Given the description of an element on the screen output the (x, y) to click on. 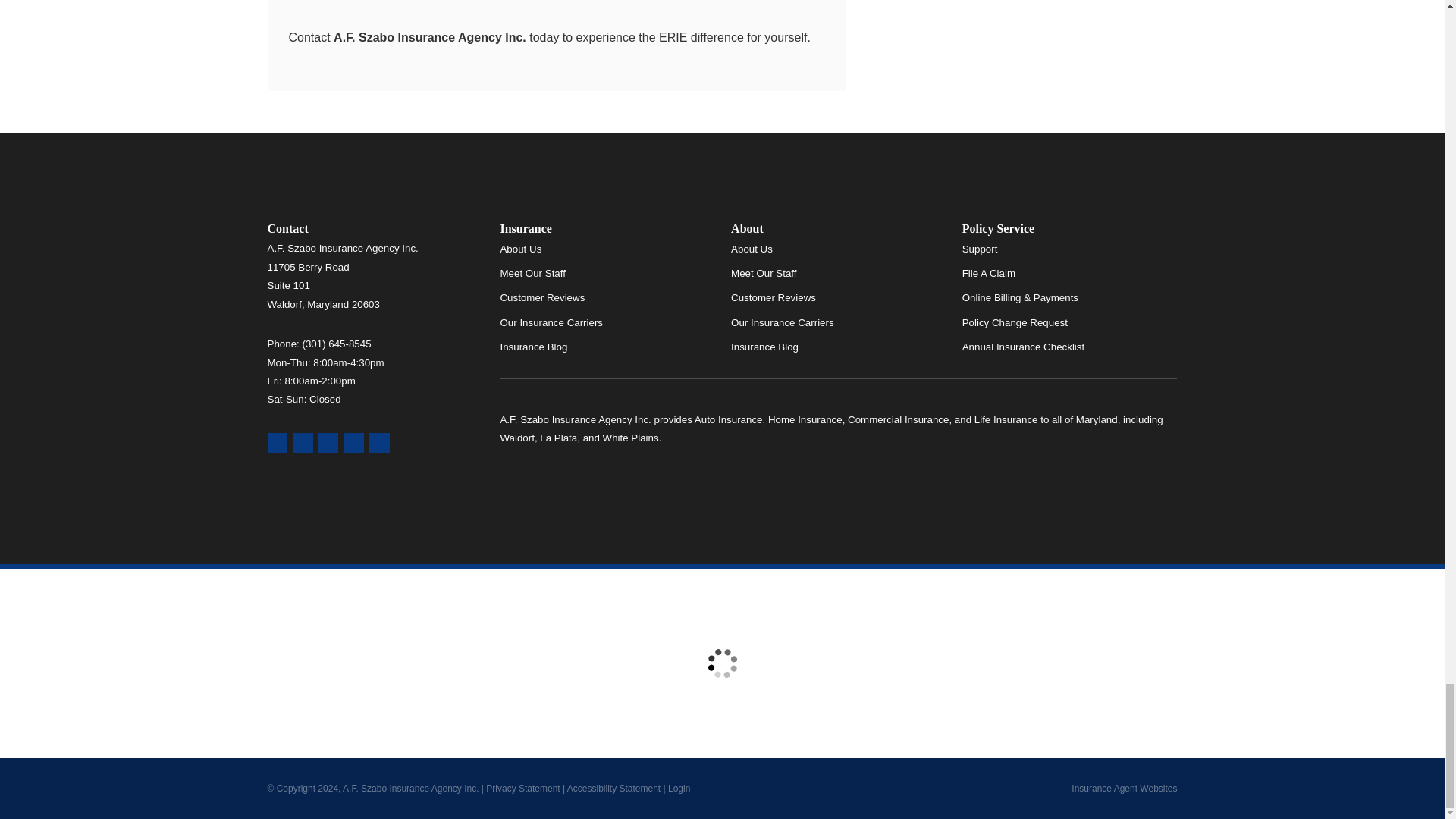
X (353, 443)
LinkedIn (379, 443)
Google Maps (276, 443)
Facebook (328, 443)
Yelp (302, 443)
